Given the description of an element on the screen output the (x, y) to click on. 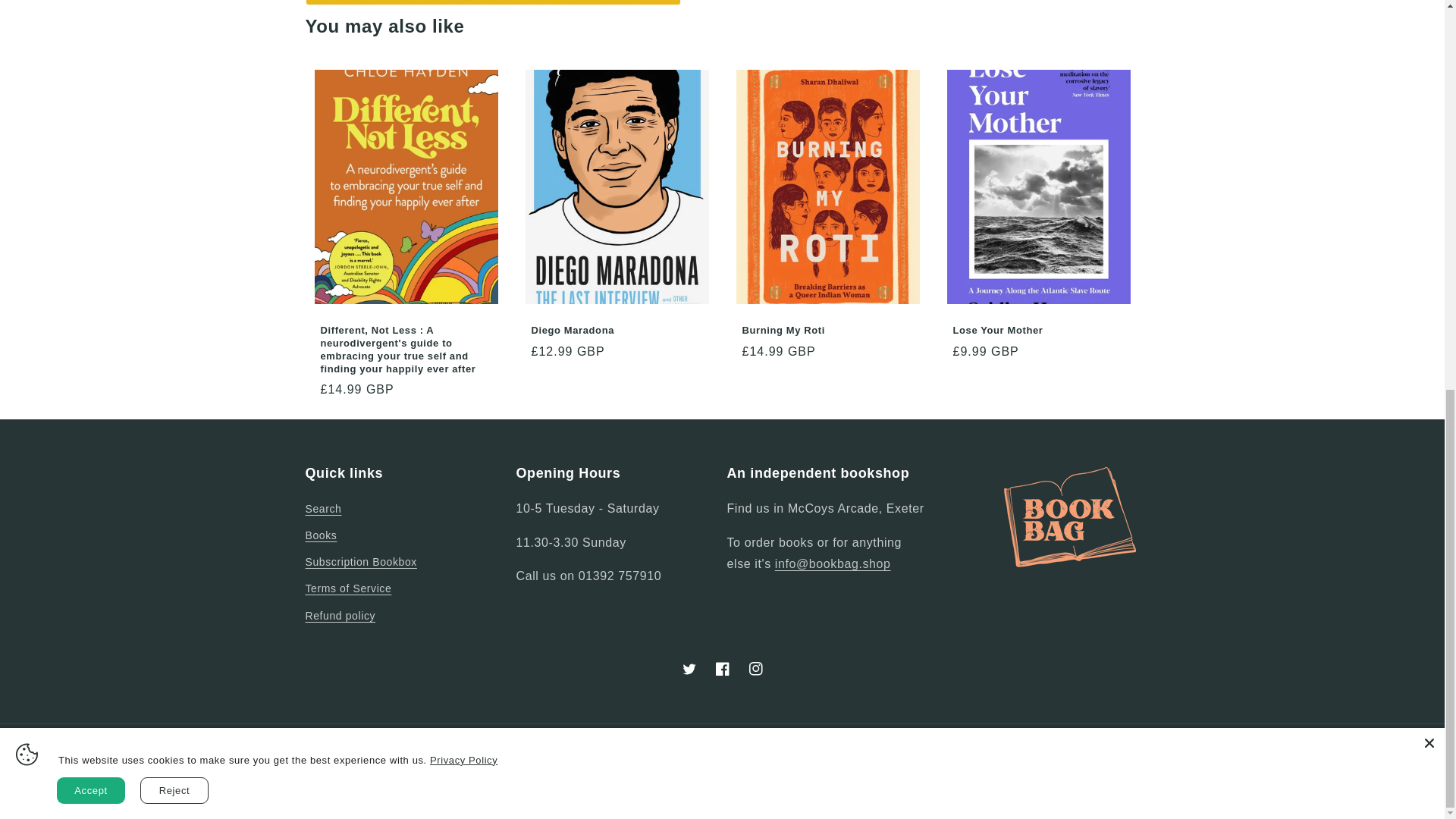
Privacy Policy (463, 18)
